Given the description of an element on the screen output the (x, y) to click on. 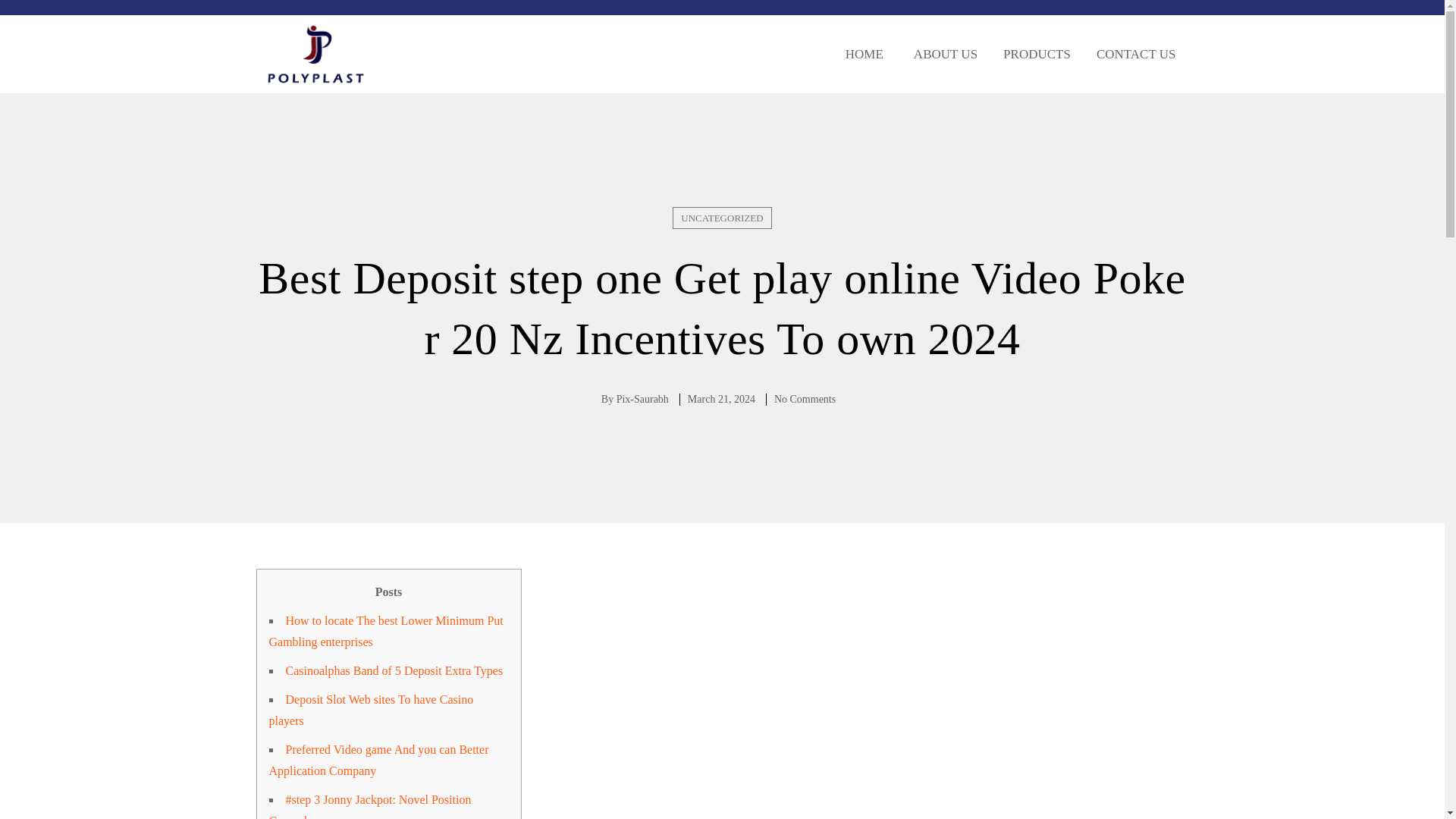
JP Polyplast (315, 54)
UNCATEGORIZED (721, 218)
CONTACT US (1136, 54)
No Comments (804, 398)
ABOUT US (943, 54)
Deposit Slot Web sites To have Casino players (370, 709)
Preferred Video game And you can Better Application Company (377, 759)
View all posts by pix-saurabh (641, 398)
Casinoalphas Band of 5 Deposit Extra Types (393, 670)
